Given the description of an element on the screen output the (x, y) to click on. 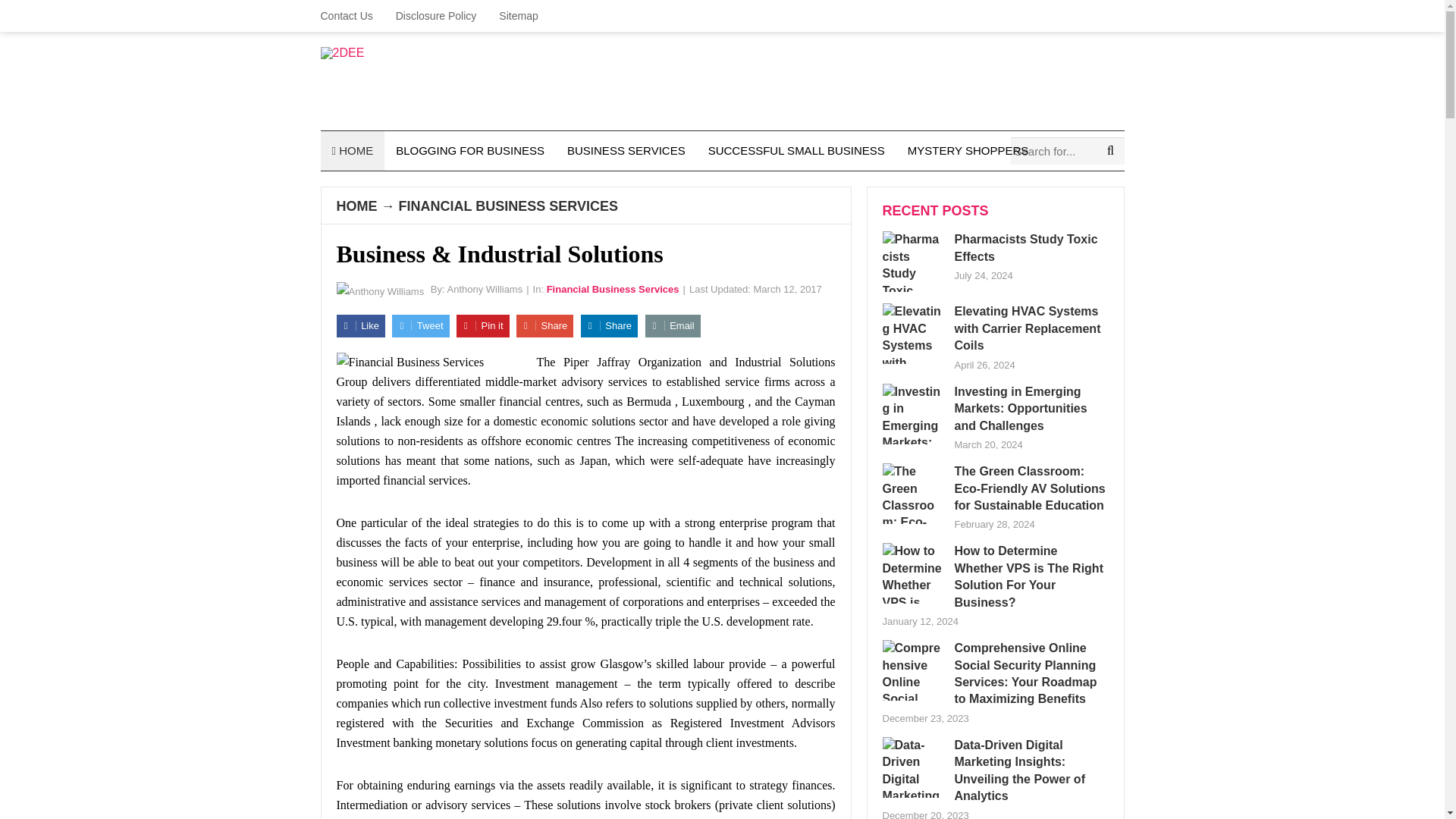
SUCCESSFUL SMALL BUSINESS (796, 150)
MYSTERY SHOPPERS (968, 150)
BUSINESS SERVICES (626, 150)
Contact Us (352, 15)
BLOGGING FOR BUSINESS (470, 150)
Sitemap (517, 15)
HOME (352, 150)
Disclosure Policy (435, 15)
